Given the description of an element on the screen output the (x, y) to click on. 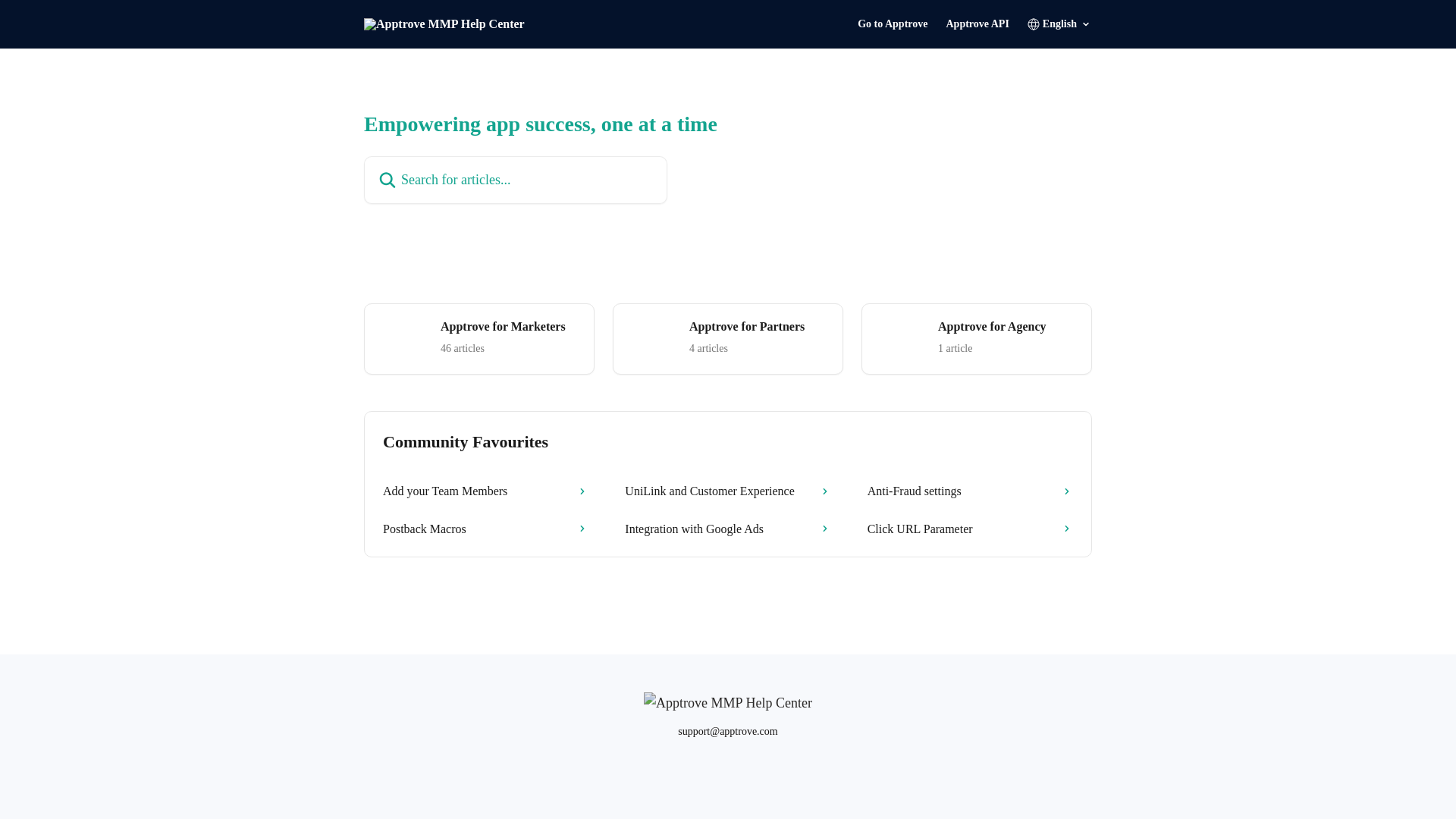
Click URL Parameter (970, 528)
Postback Macros (727, 338)
UniLink and Customer Experience (479, 338)
Add your Team Members (485, 528)
Apptrove API (727, 491)
Go to Apptrove (976, 338)
Integration with Google Ads (485, 491)
